Given the description of an element on the screen output the (x, y) to click on. 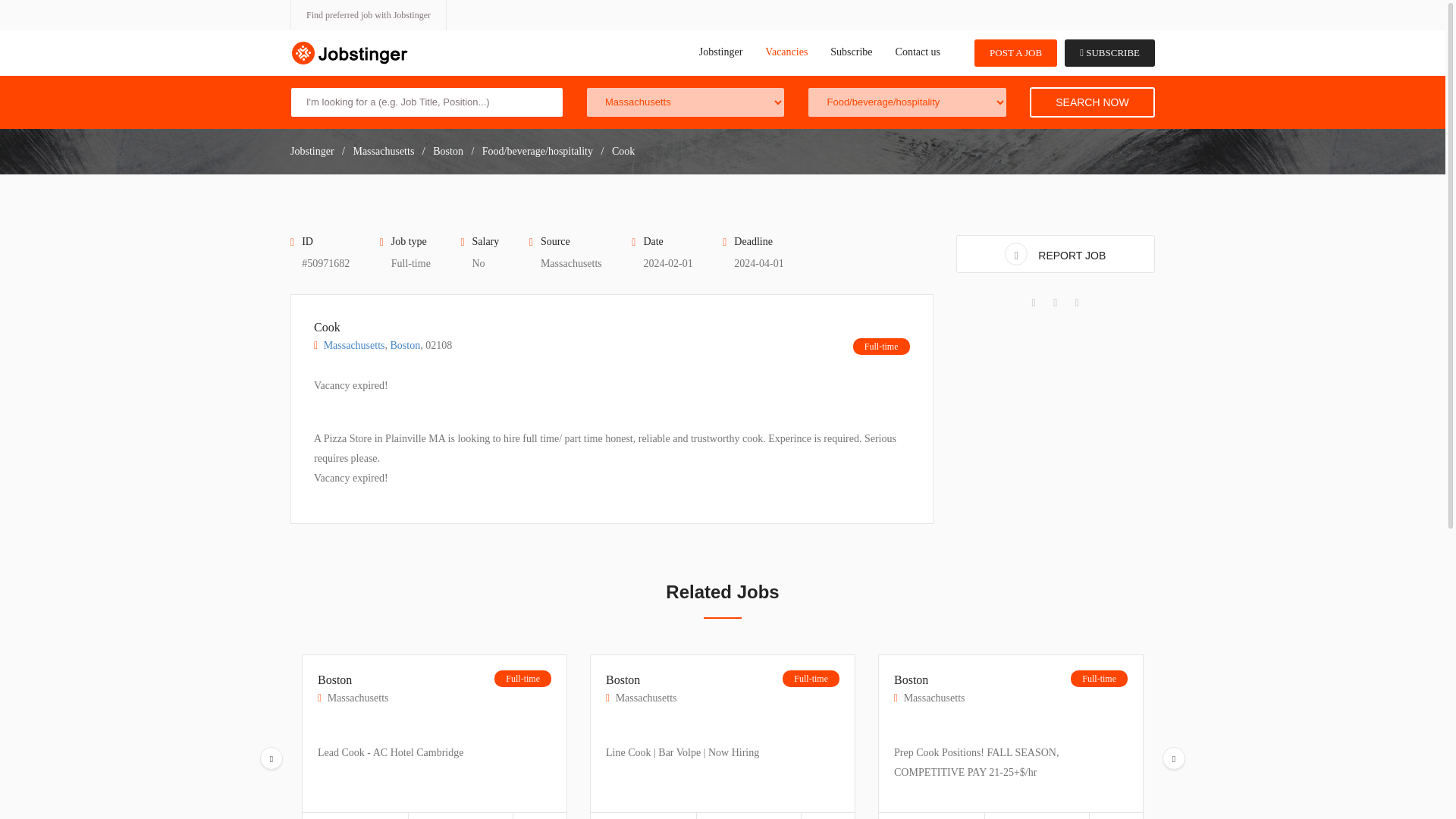
Subscribe for new vacancies (1109, 52)
Boston (641, 687)
Contact us (917, 52)
Subscribe (851, 52)
Boston (352, 687)
Twitter (1054, 302)
Vacancies (786, 52)
SEARCH NOW (1091, 101)
Post Jobs (1015, 52)
VIEW JOB (931, 816)
POST A JOB (1015, 52)
Contact us (917, 52)
Facebook (1034, 302)
APPLY NOW (460, 816)
Cook (382, 335)
